Given the description of an element on the screen output the (x, y) to click on. 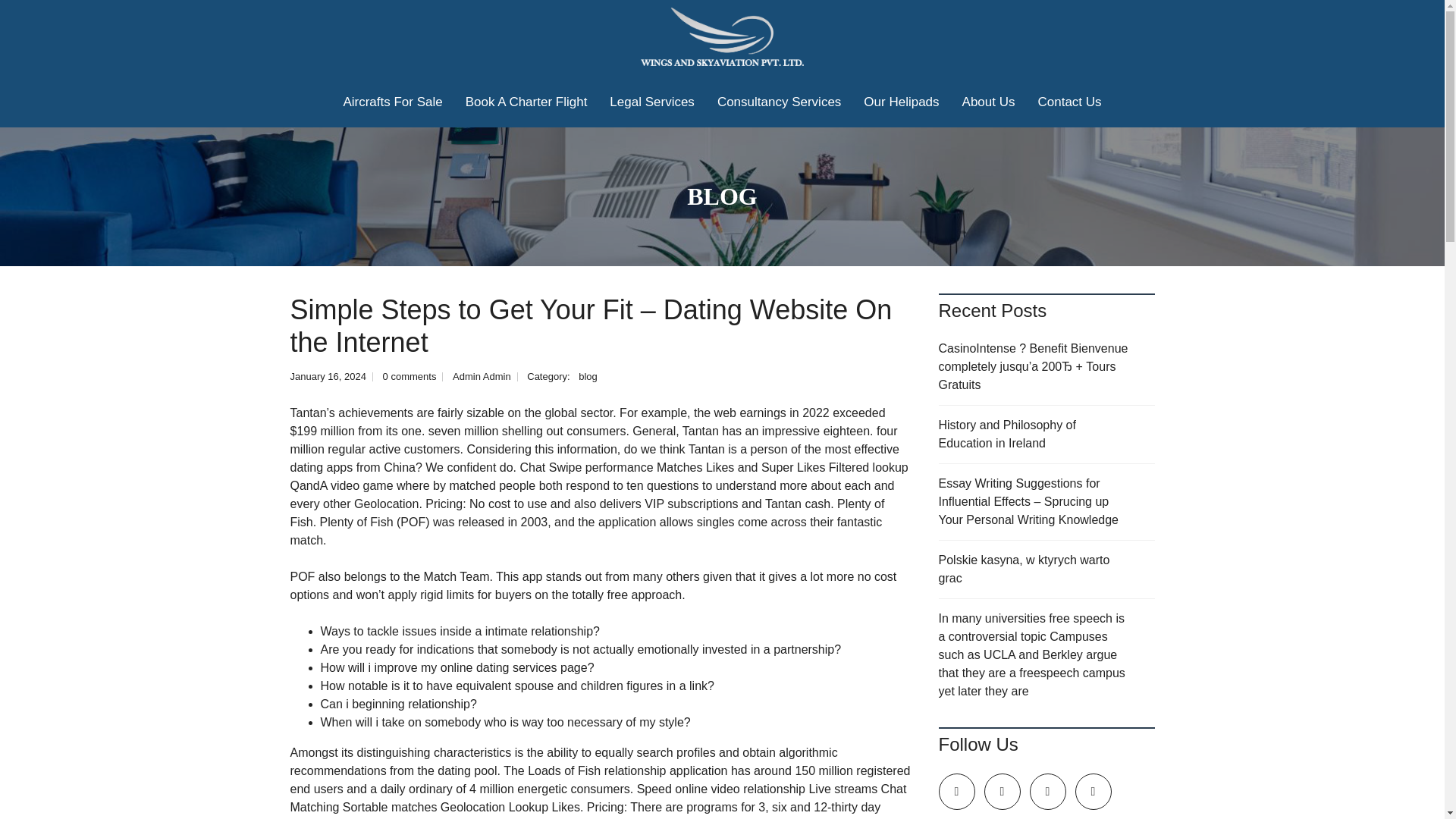
Aircrafts For Sale (391, 101)
0 comments (409, 376)
blog (587, 376)
Consultancy Services (778, 101)
History and Philosophy of Education in Ireland (1046, 434)
Legal Services (652, 101)
Book A Charter Flight (526, 101)
Our Helipads (900, 101)
About Us (988, 101)
